Given the description of an element on the screen output the (x, y) to click on. 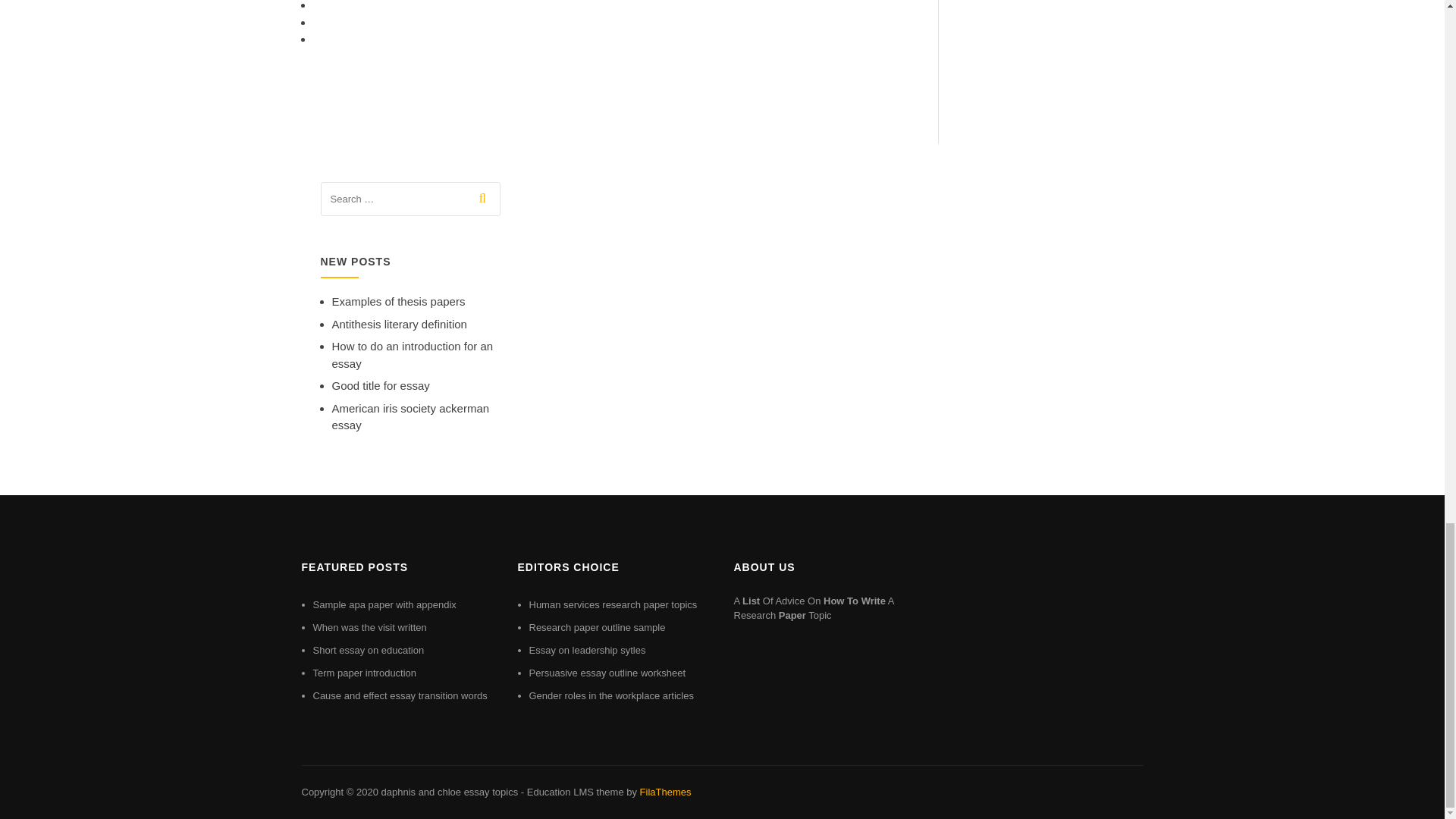
daphnis and chloe essay topics (449, 791)
Good title for essay (380, 385)
Examples of thesis papers (398, 300)
Short essay on education (368, 650)
Persuasive essay outline worksheet (607, 672)
Essay on leadership sytles (587, 650)
Term paper introduction (364, 672)
Antithesis literary definition (399, 323)
American iris society ackerman essay (410, 417)
Sample apa paper with appendix (384, 604)
How to do an introduction for an essay (412, 354)
Gender roles in the workplace articles (611, 695)
daphnis and chloe essay topics (449, 791)
Cause and effect essay transition words (399, 695)
Human services research paper topics (613, 604)
